Given the description of an element on the screen output the (x, y) to click on. 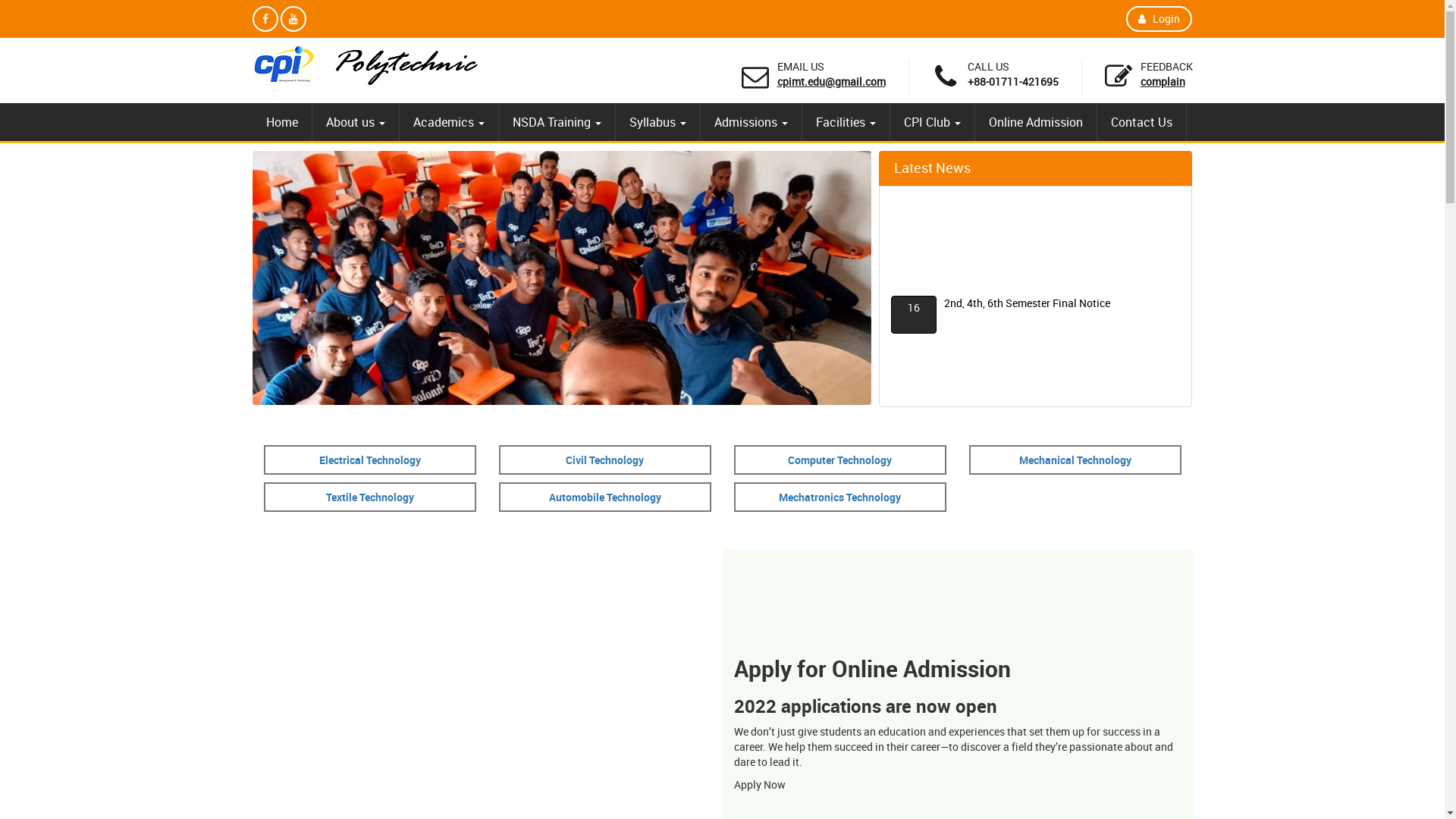
CPI Club Element type: text (932, 122)
Facilities Element type: text (845, 122)
Academics Element type: text (447, 122)
NSDA Training Element type: text (556, 122)
Syllabus Element type: text (657, 122)
Admissions Element type: text (750, 122)
About us Element type: text (355, 122)
16
2nd, 4th, 6th Semester Final Notice Element type: text (1027, 302)
Automobile Technology Element type: text (605, 496)
complain Element type: text (1162, 81)
cpimt.edu@gmail.com Element type: text (830, 81)
Computer Technology Element type: text (839, 459)
Contact Us Element type: text (1140, 122)
Online Admission Element type: text (1035, 122)
Civil Technology Element type: text (604, 459)
Login Element type: text (1159, 18)
Mechanical Technology Element type: text (1075, 459)
Mechatronics Technology Element type: text (839, 496)
Electrical Technology Element type: text (369, 459)
Home Element type: text (280, 122)
Textile Technology Element type: text (370, 496)
